Given the description of an element on the screen output the (x, y) to click on. 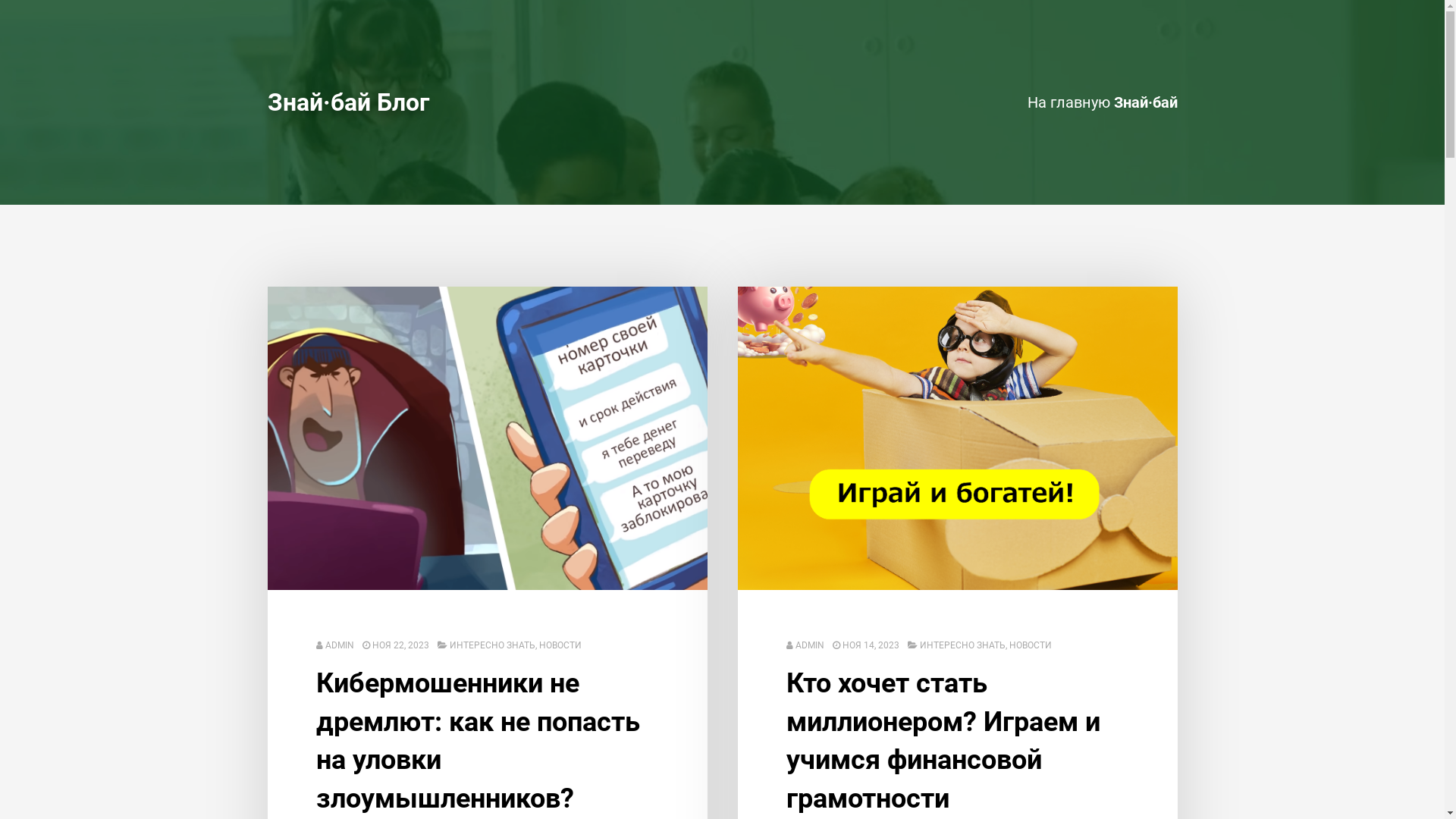
ADMIN Element type: text (808, 645)
ADMIN Element type: text (338, 645)
